Given the description of an element on the screen output the (x, y) to click on. 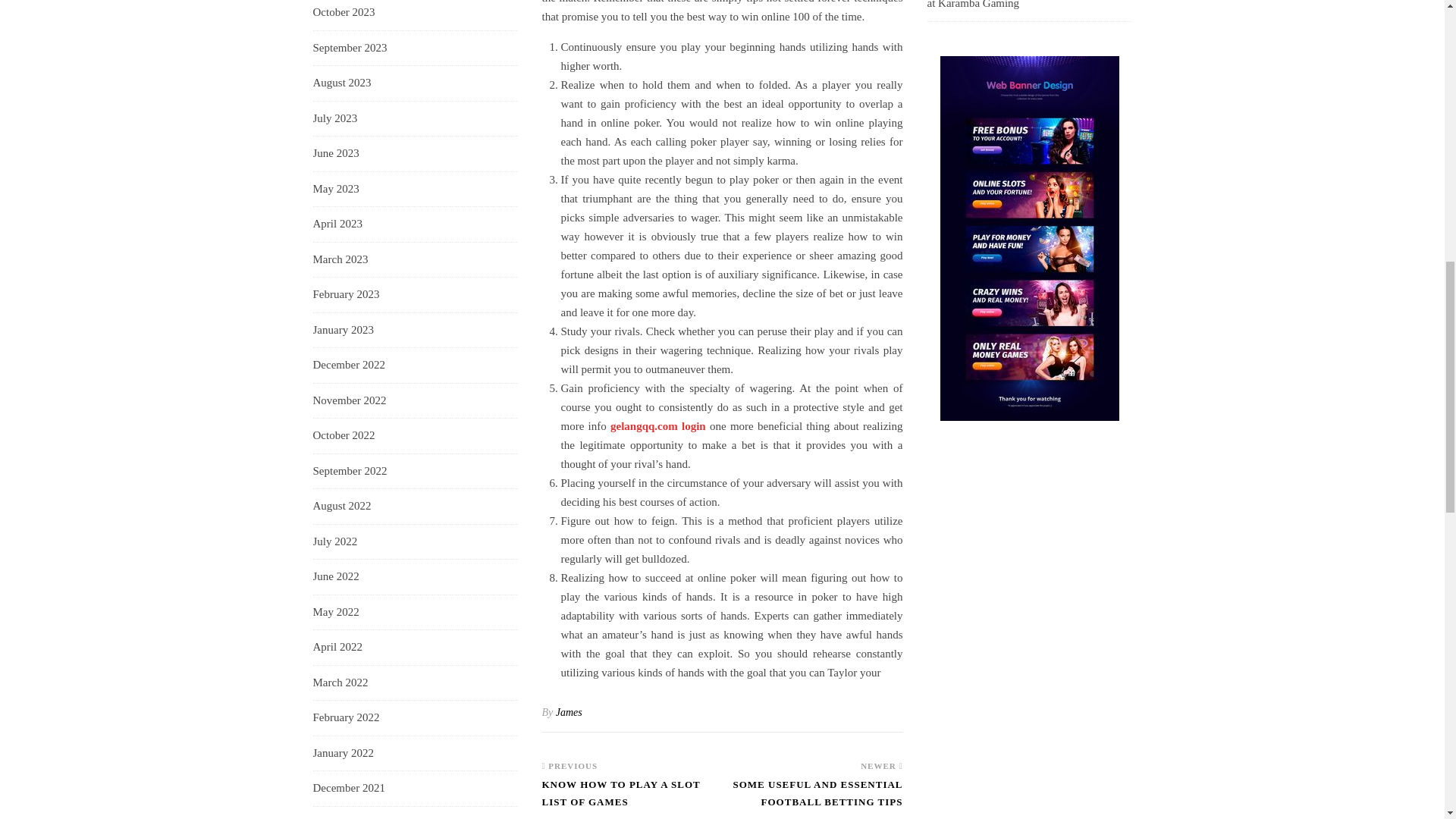
October 2023 (343, 12)
December 2021 (348, 788)
May 2022 (335, 612)
April 2023 (337, 224)
June 2022 (335, 576)
July 2023 (334, 118)
December 2022 (348, 364)
November 2022 (349, 400)
January 2022 (342, 753)
Posts by James (569, 712)
